Given the description of an element on the screen output the (x, y) to click on. 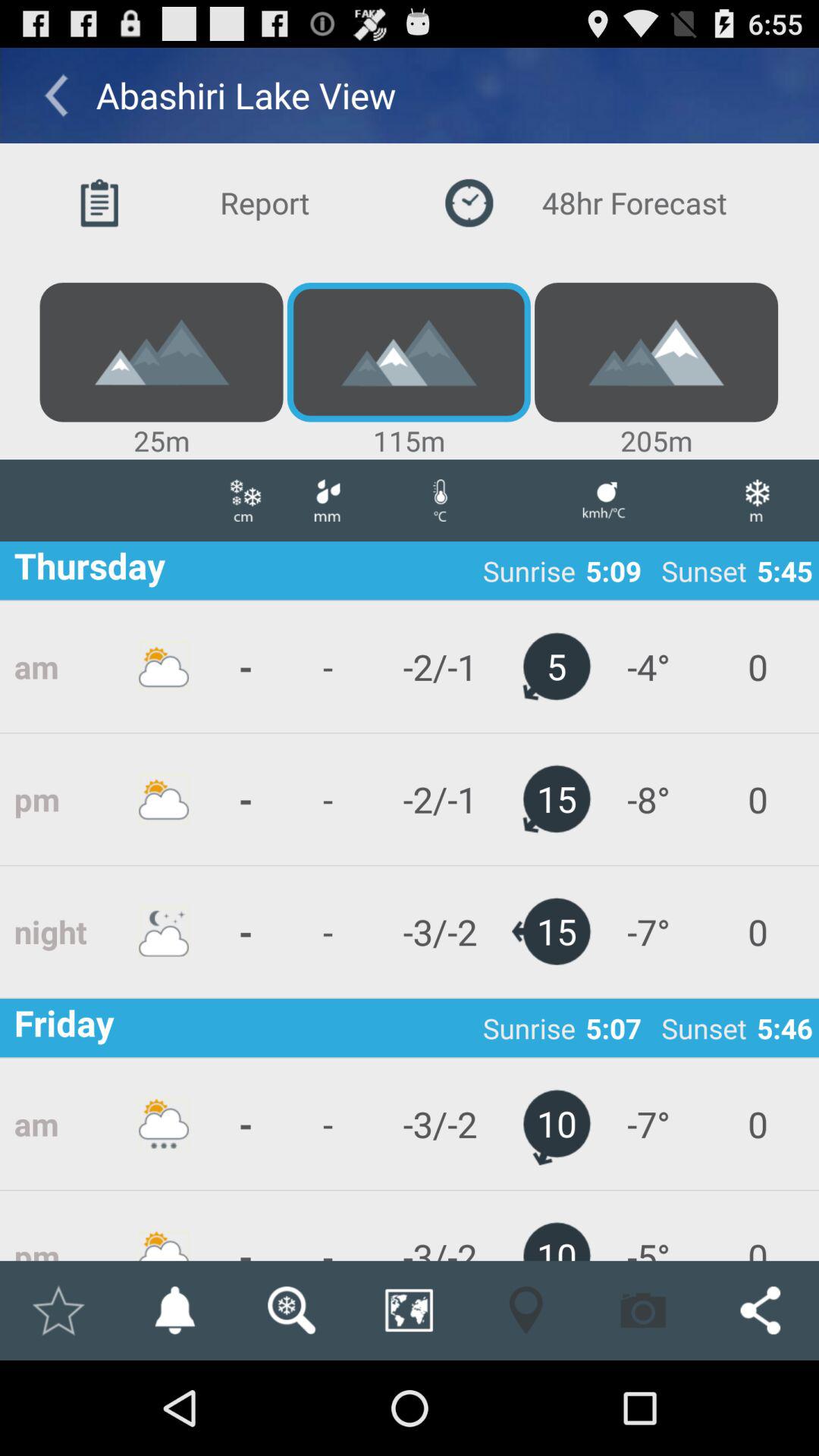
click to use camera (642, 1310)
